Given the description of an element on the screen output the (x, y) to click on. 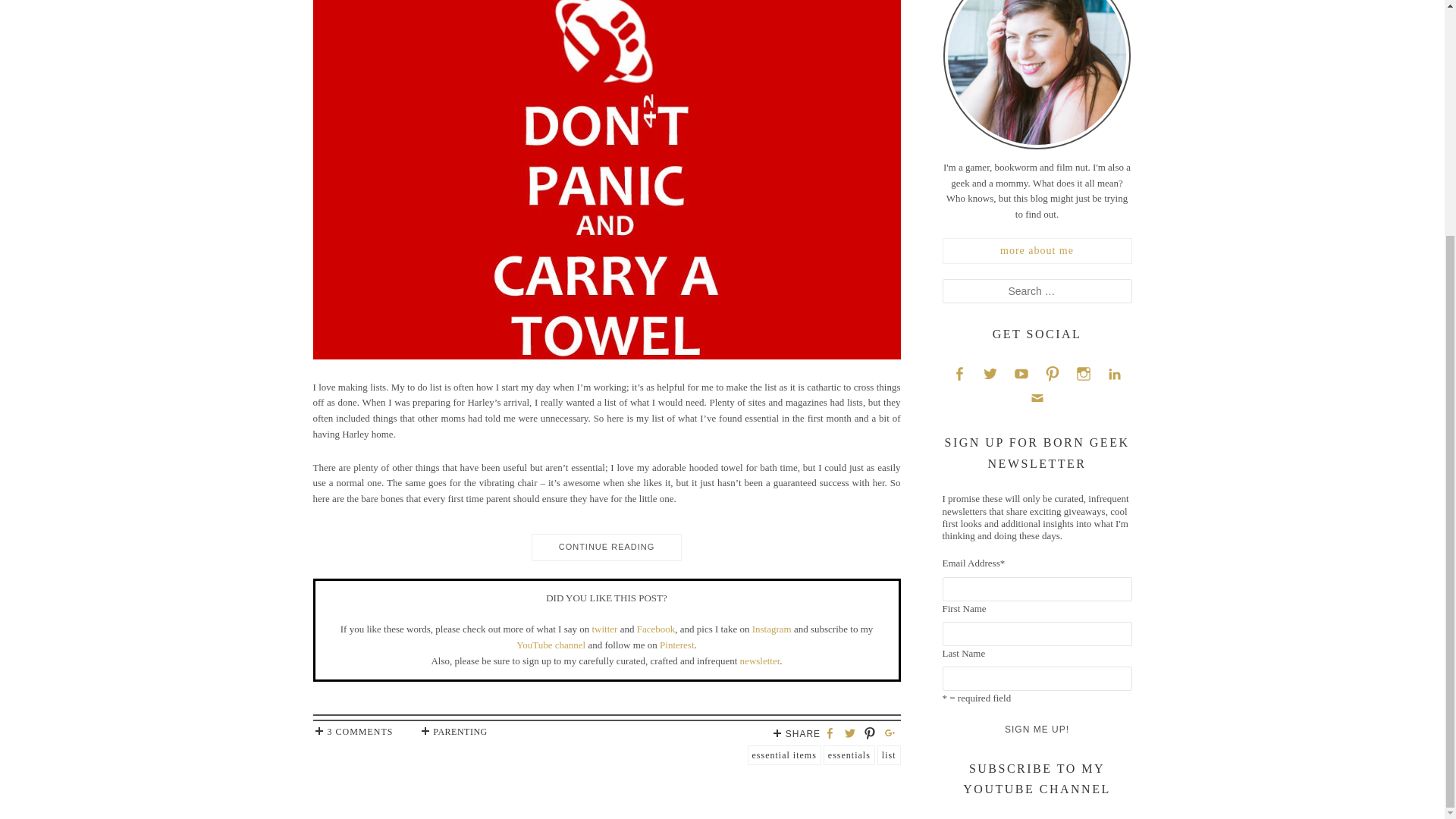
YouTube (1021, 373)
Twitter (989, 373)
3 COMMENTS (353, 731)
YouTube channel (550, 644)
Email (1036, 397)
Facebook (959, 373)
Instagram (772, 628)
Pinterest (1052, 373)
essentials (849, 754)
CONTINUE READING (606, 541)
